Given the description of an element on the screen output the (x, y) to click on. 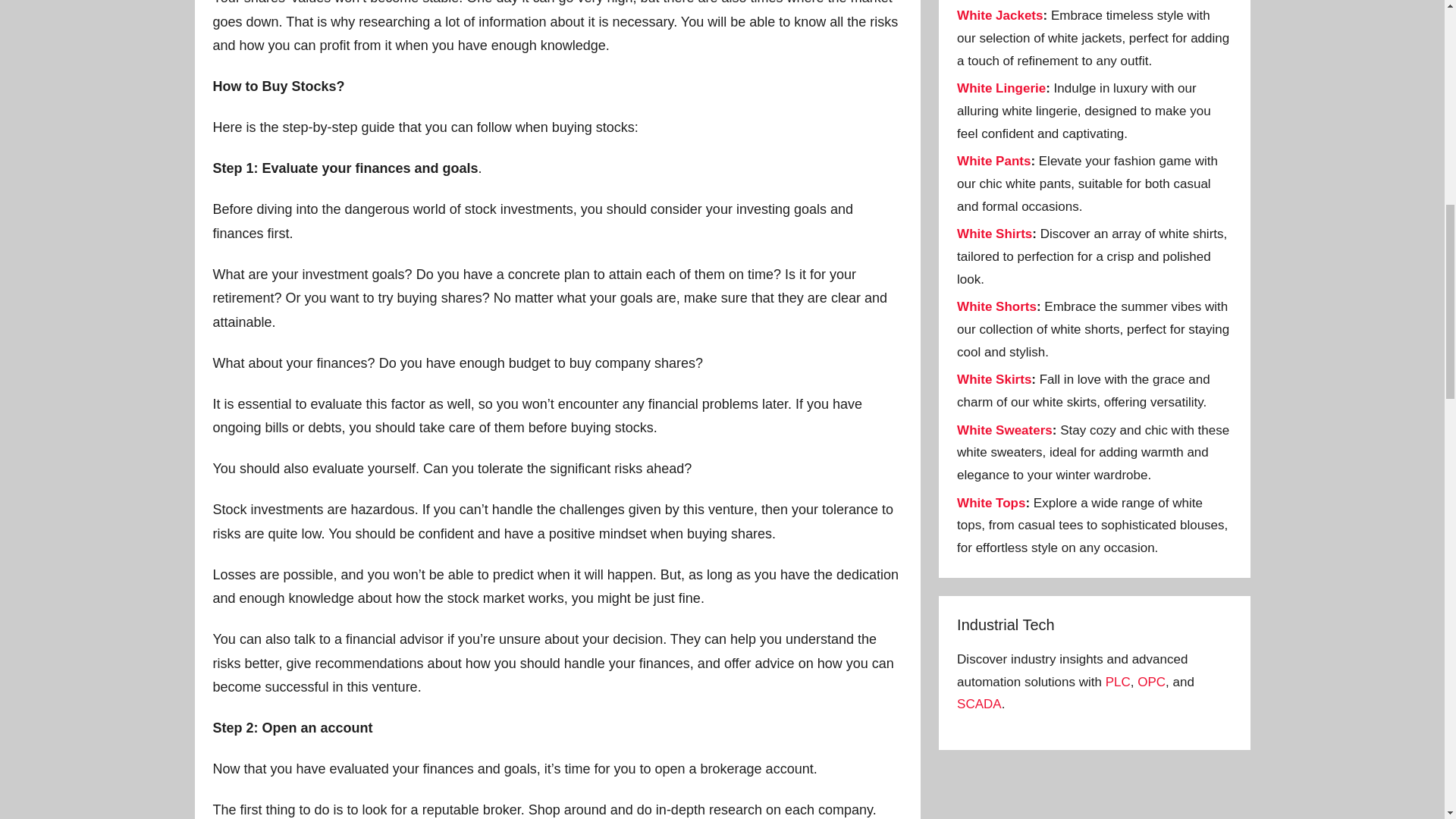
White Shorts (996, 306)
White Skirts (993, 379)
White Tops (990, 503)
White Lingerie (1000, 88)
White Sweaters (1004, 430)
OPC (1151, 681)
SCADA (978, 703)
White Jackets (999, 15)
White Pants (993, 160)
PLC (1118, 681)
White Shirts (994, 233)
